Given the description of an element on the screen output the (x, y) to click on. 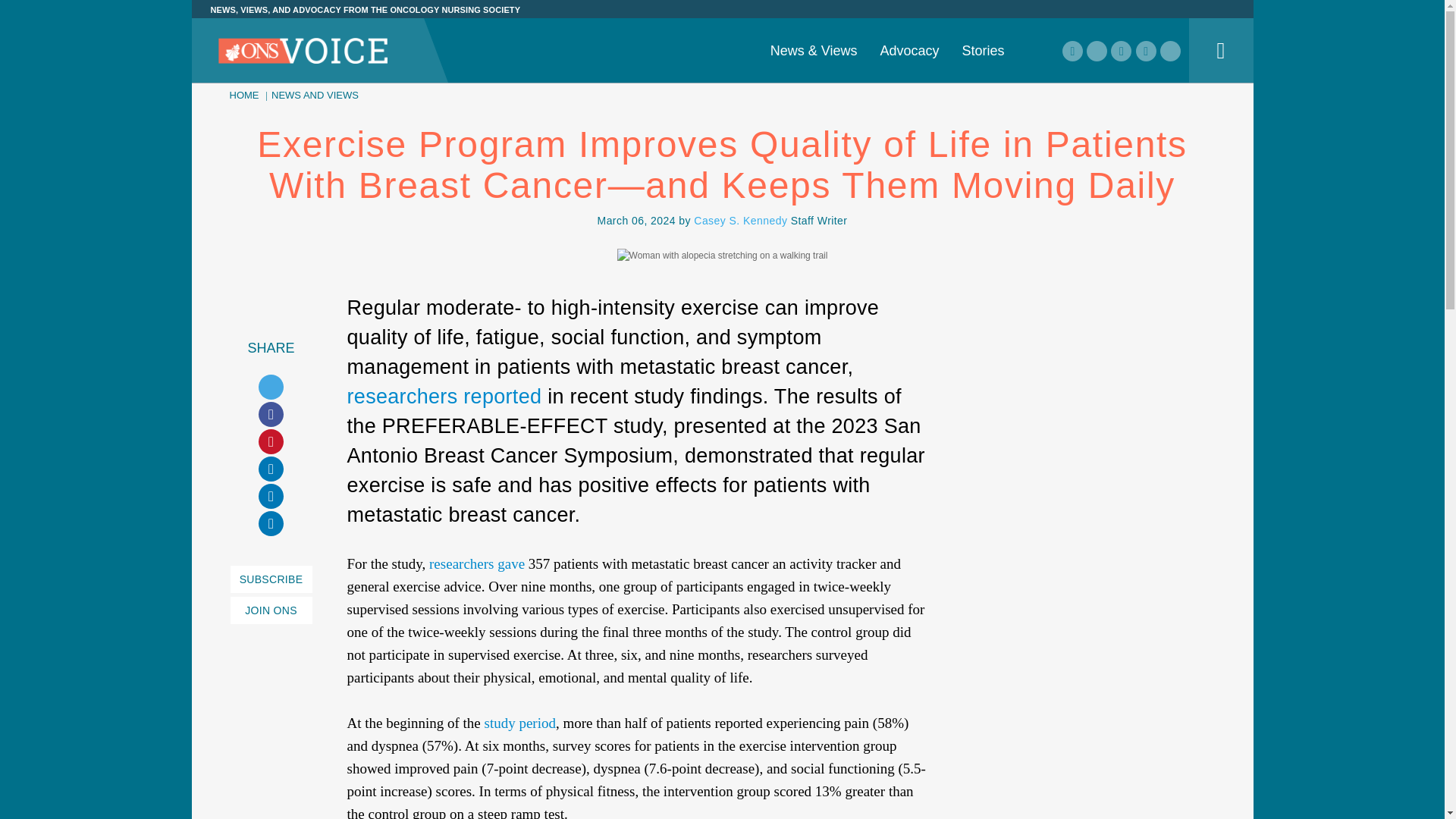
Home (302, 51)
GET INVOLVED (721, 37)
ONS CONGRESS (999, 2)
Stories (982, 50)
Advocacy (908, 50)
Advocacy (908, 50)
Stories (982, 50)
LATEST ARTICLES (466, 37)
